Given the description of an element on the screen output the (x, y) to click on. 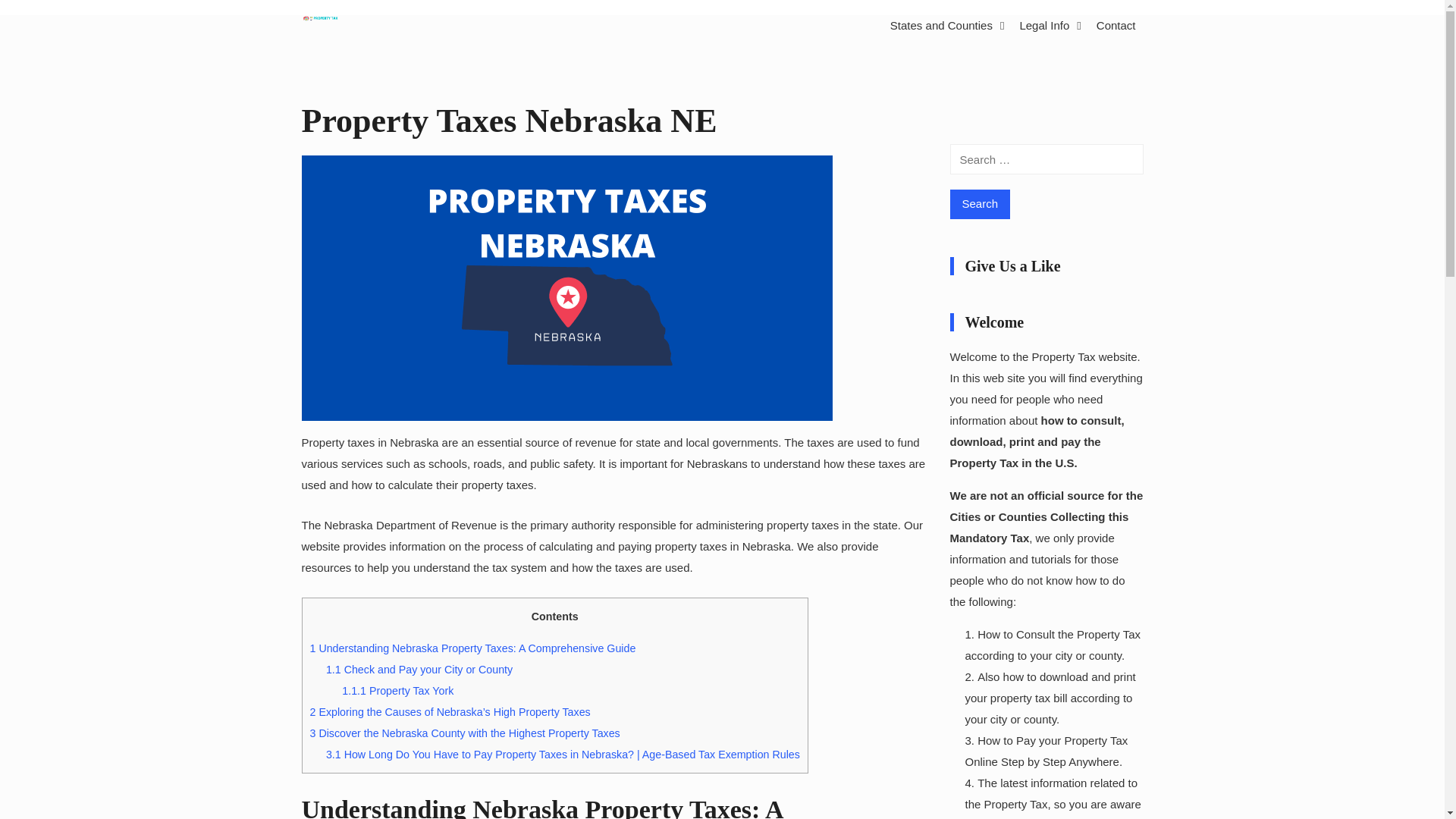
Search (979, 204)
Search (979, 204)
